Given the description of an element on the screen output the (x, y) to click on. 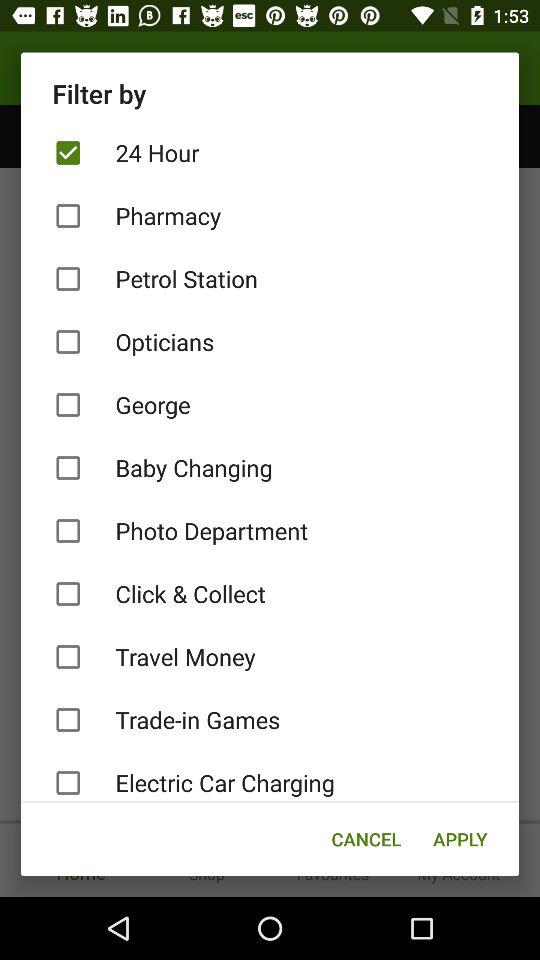
scroll to click & collect item (270, 593)
